Given the description of an element on the screen output the (x, y) to click on. 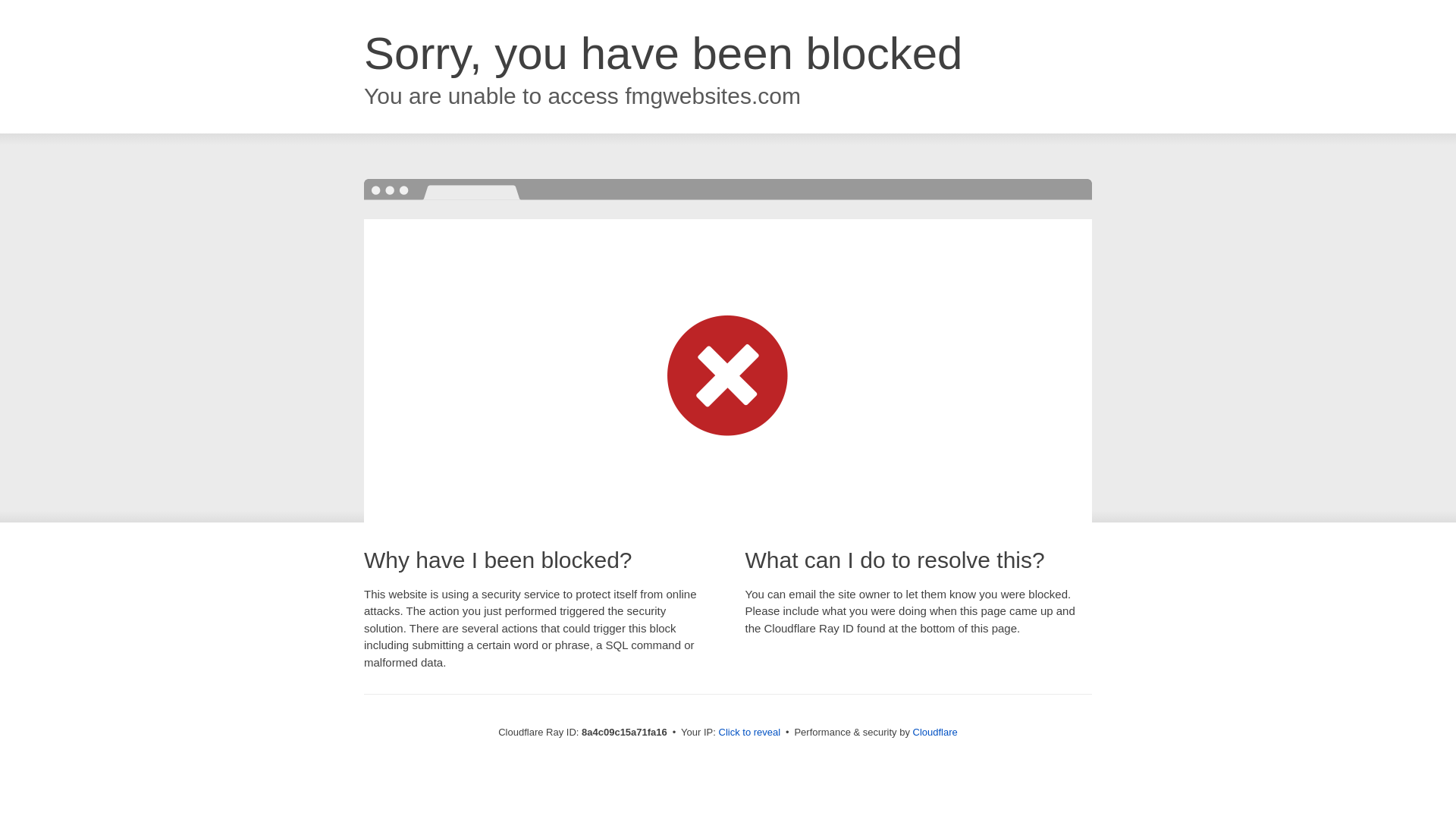
Click to reveal (749, 732)
Cloudflare (935, 731)
